Given the description of an element on the screen output the (x, y) to click on. 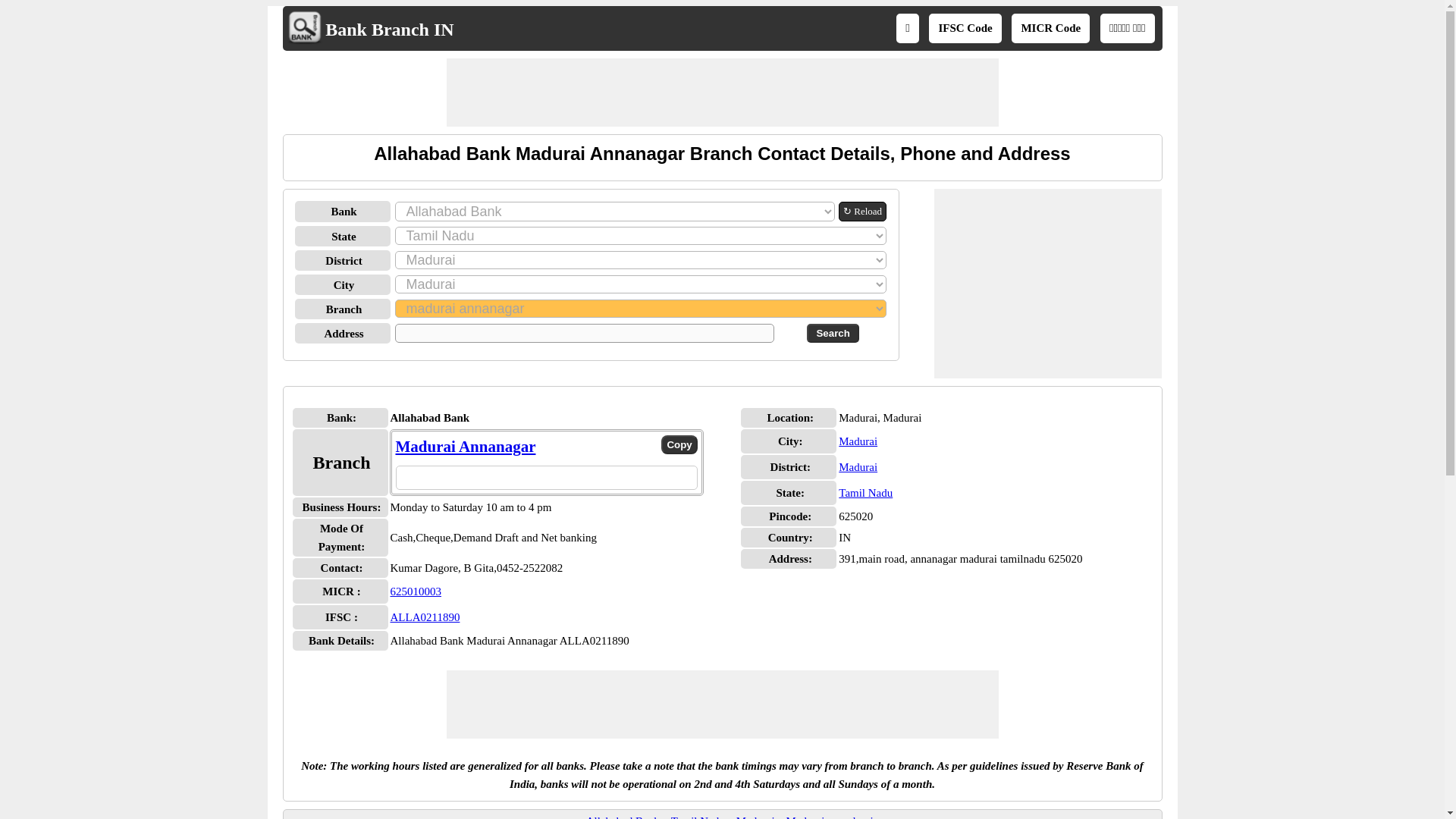
625010003 (415, 591)
Share on Twitter (533, 476)
Share on Facebook (508, 476)
Madurai (857, 440)
Madurai (805, 816)
Madurai Annanagar (465, 446)
IFSC Code (964, 28)
Bank Branch IN (388, 29)
ALLA0211890 (425, 616)
Allahabad Bank (622, 816)
